Given the description of an element on the screen output the (x, y) to click on. 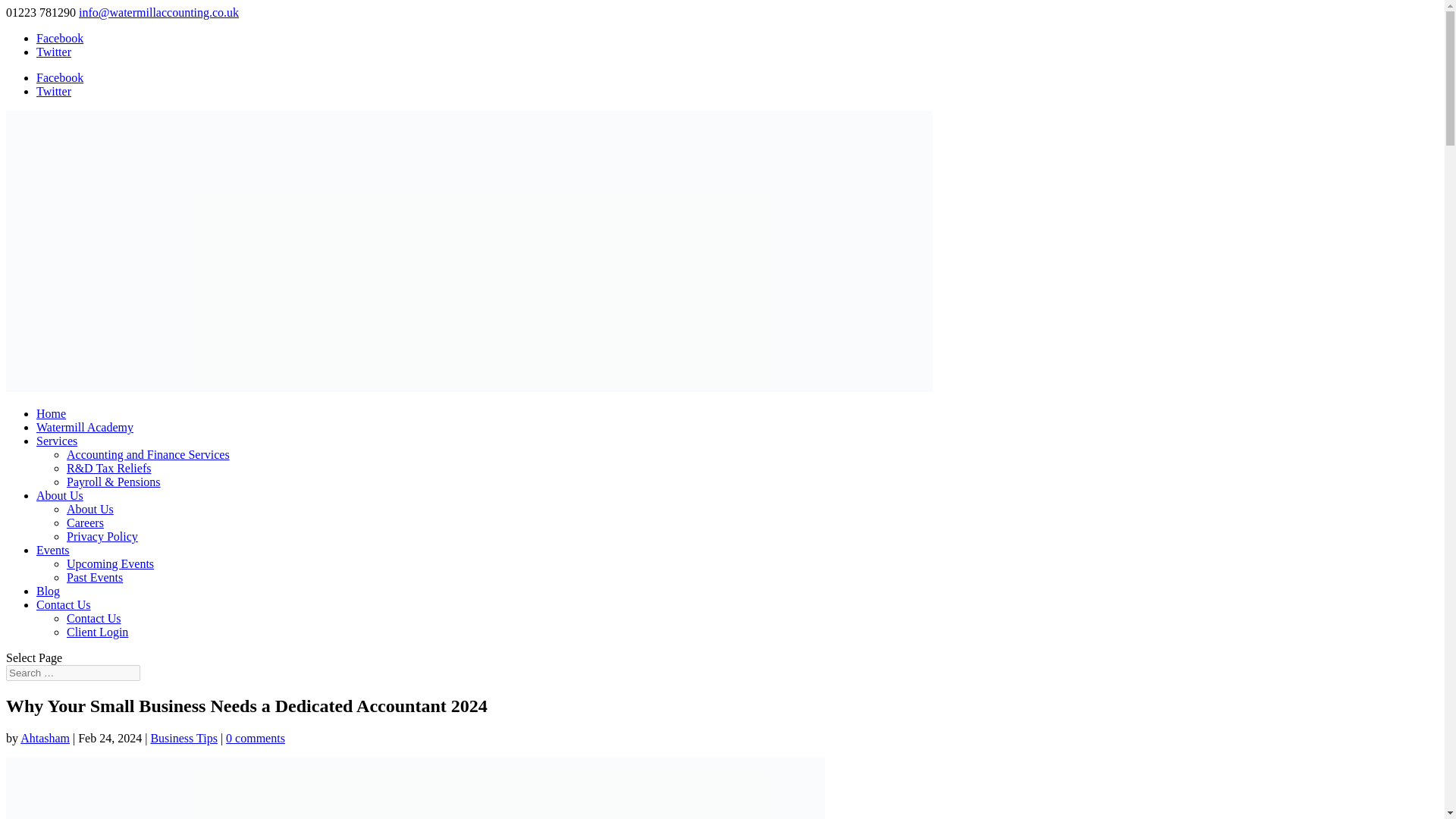
Ahtasham (44, 738)
Search for: (72, 672)
Twitter (53, 91)
Twitter (53, 51)
About Us (89, 508)
Client Login (97, 631)
Contact Us (93, 617)
Posts by Ahtasham (44, 738)
Careers (84, 522)
Privacy Policy (102, 535)
